Given the description of an element on the screen output the (x, y) to click on. 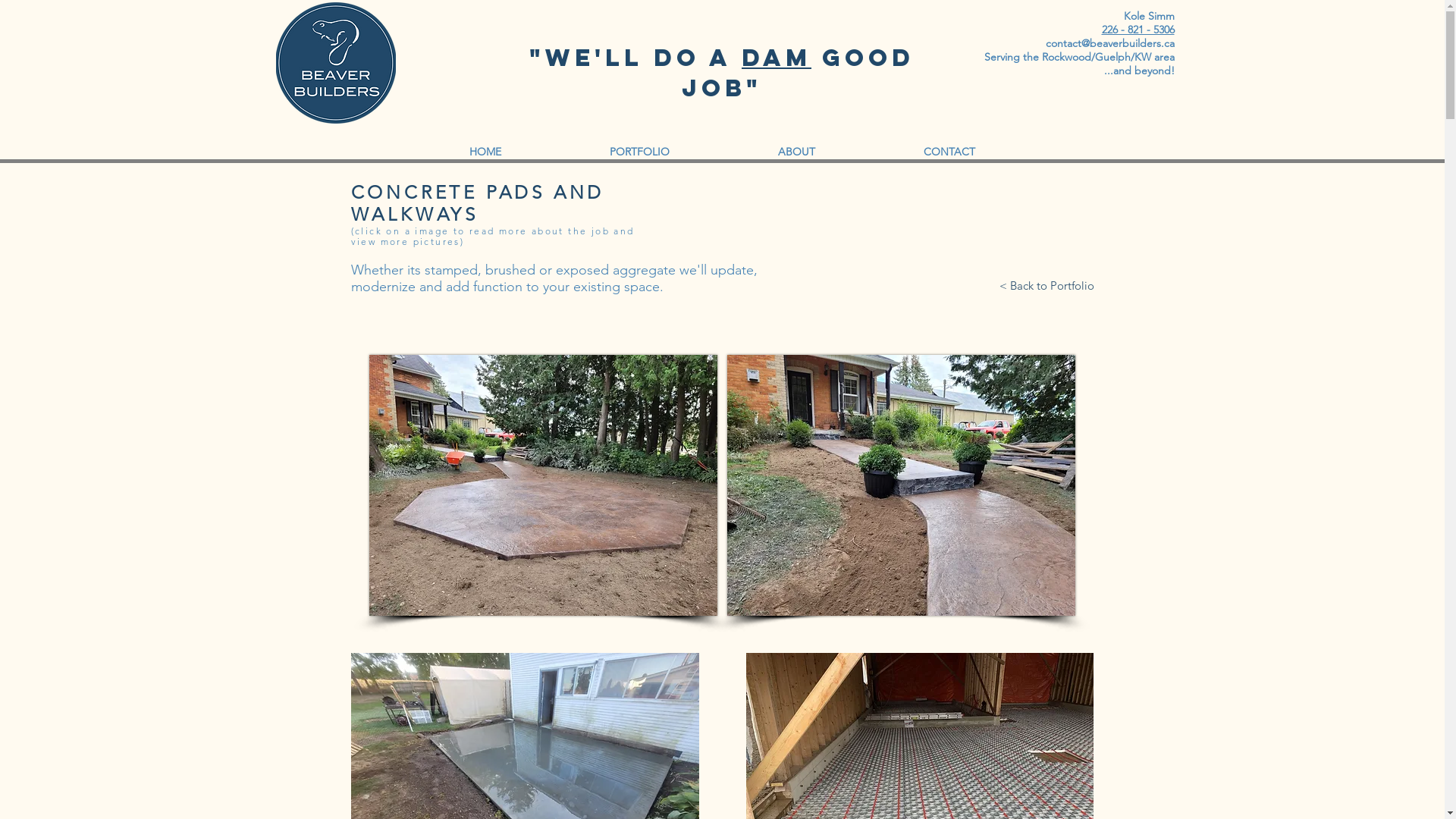
< Back to Portfolio Element type: text (1046, 284)
contact@beaverbuilders.ca Element type: text (1108, 43)
226 - 821 - 5306 Element type: text (1137, 29)
ABOUT Element type: text (796, 151)
HOME Element type: text (484, 151)
PORTFOLIO Element type: text (639, 151)
CONTACT Element type: text (949, 151)
